Given the description of an element on the screen output the (x, y) to click on. 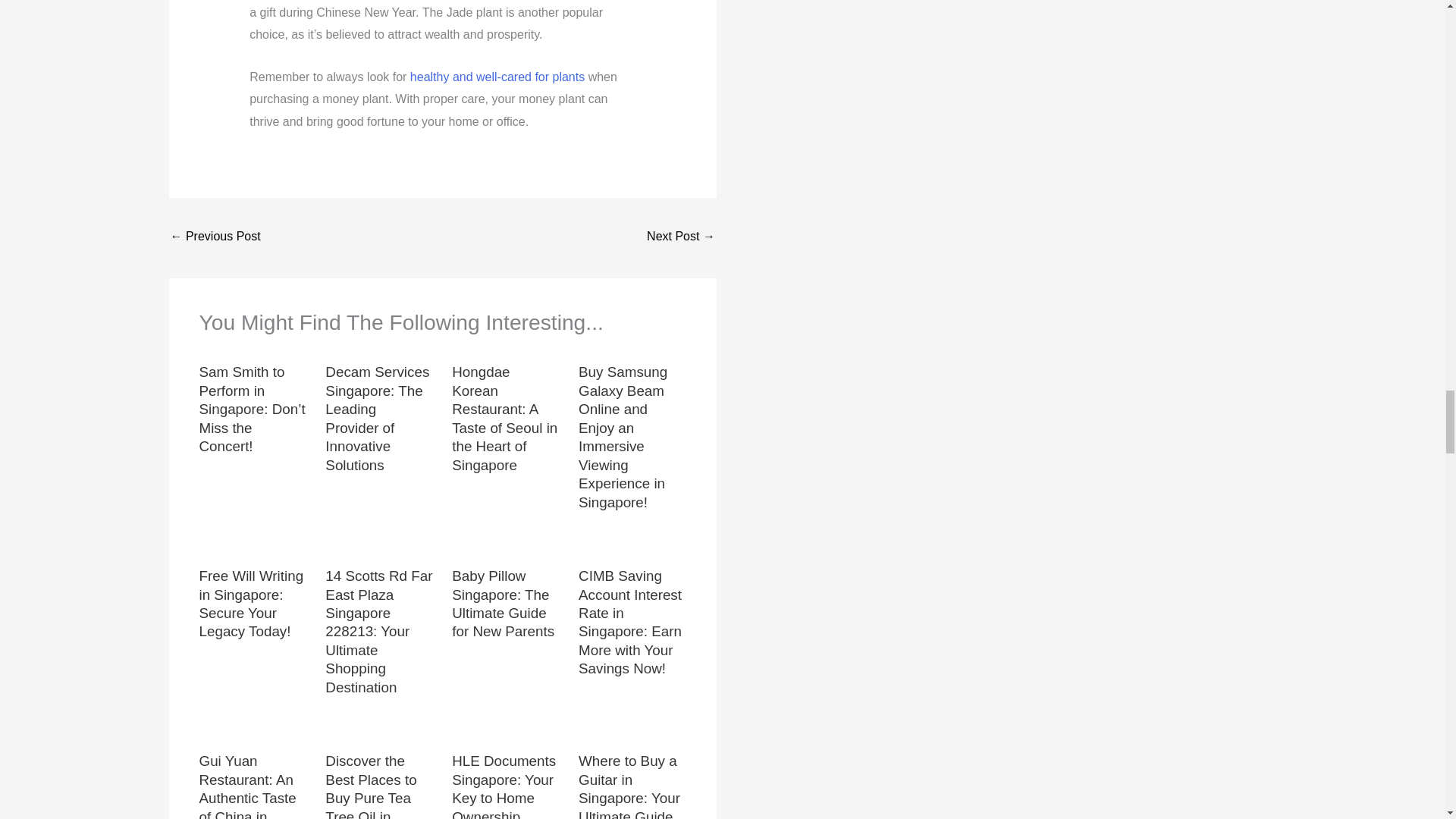
Buy Hangers Online: Organize Your Closet with Ease! (215, 237)
Where to Buy Korean Ginseng in Singapore: The Ultimate Guide (680, 237)
